Given the description of an element on the screen output the (x, y) to click on. 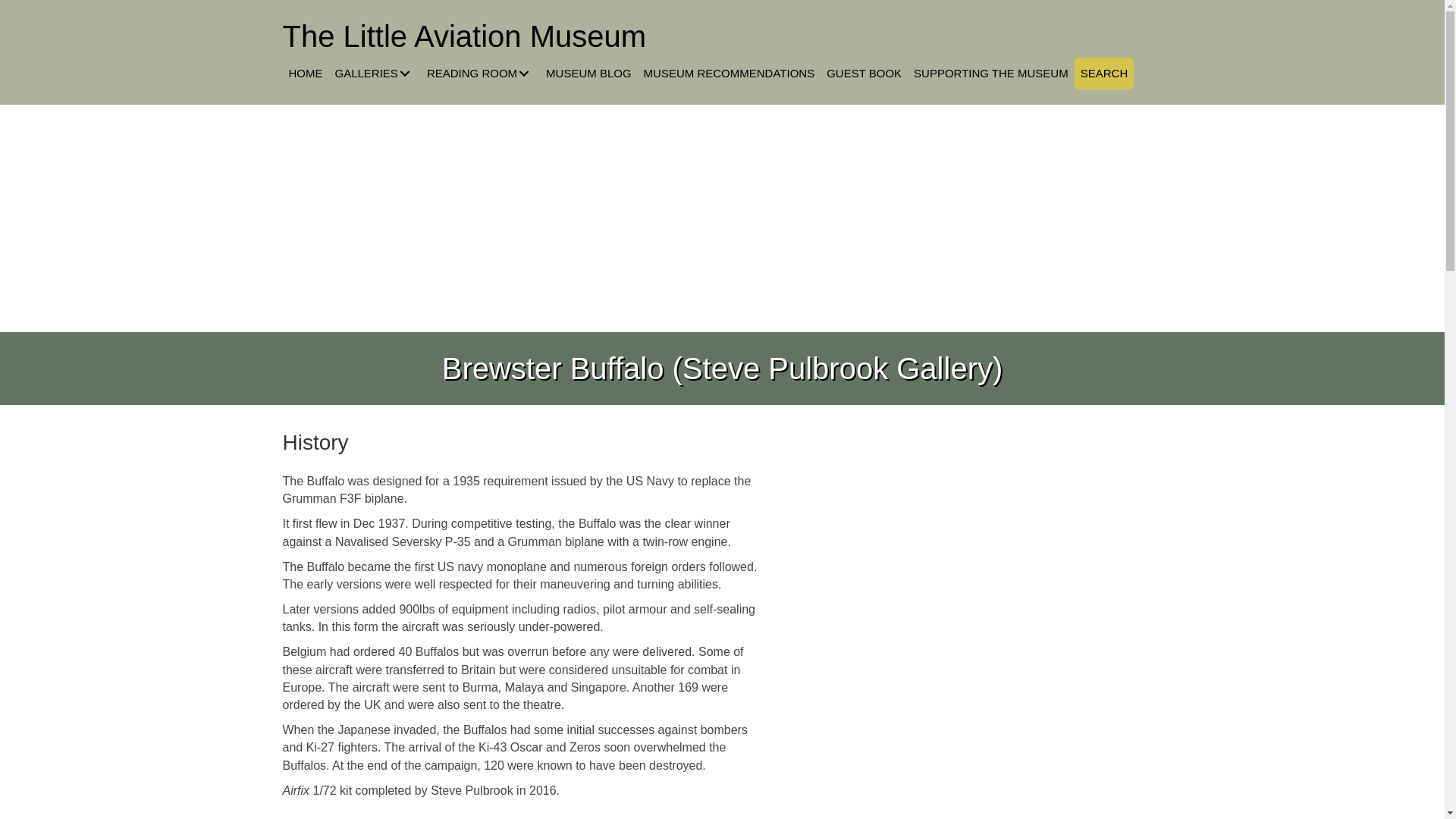
The Little Aviation Museum (464, 36)
The Little Aviation Museum (464, 36)
MUSEUM RECOMMENDATIONS (729, 73)
HOME (305, 73)
GUEST BOOK (864, 73)
GALLERIES (374, 73)
MUSEUM BLOG (588, 73)
READING ROOM (480, 73)
SUPPORTING THE MUSEUM (990, 73)
SEARCH (1104, 73)
